Given the description of an element on the screen output the (x, y) to click on. 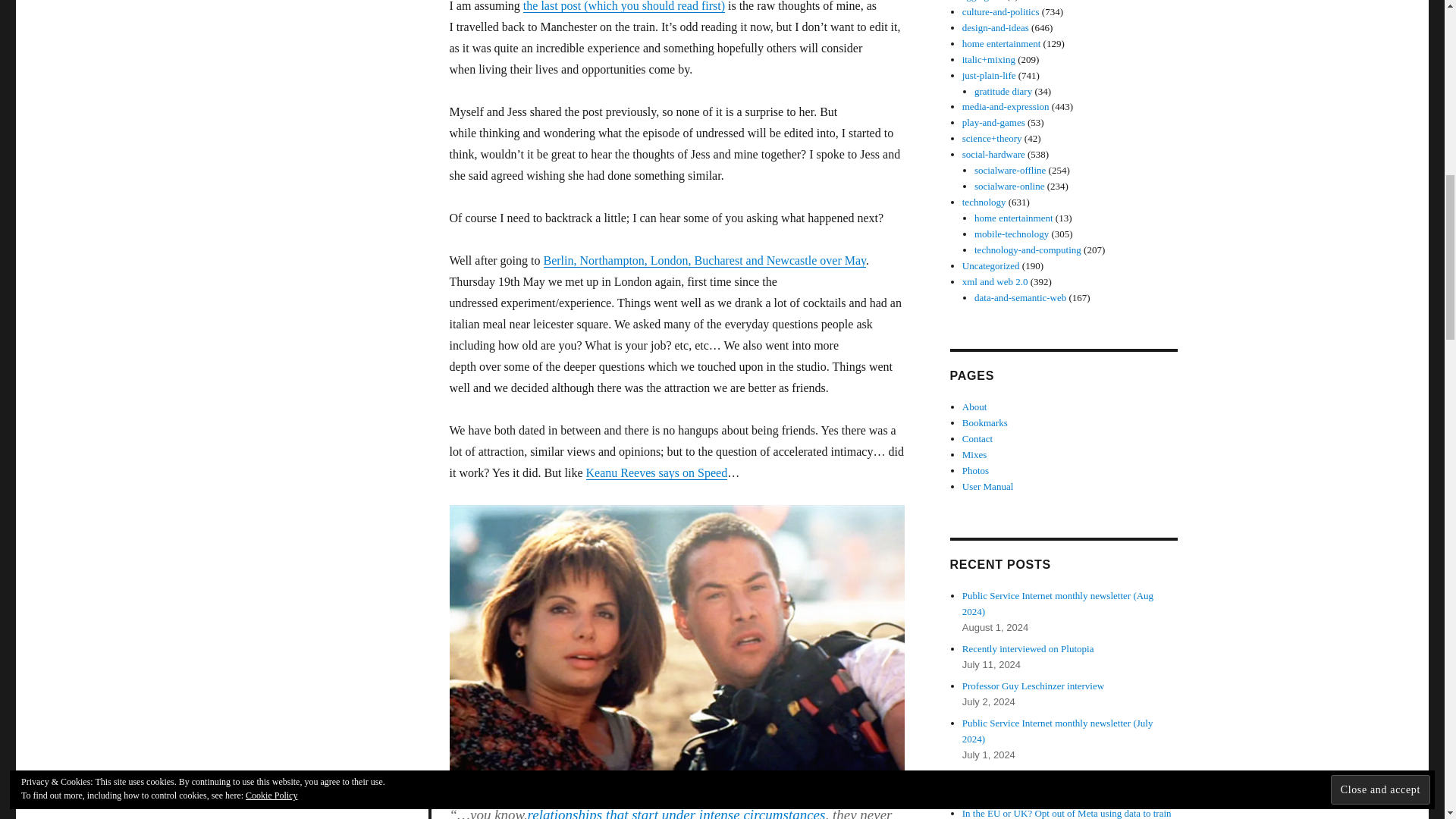
relationships that start under intense circumstances (676, 812)
Keanu Reeves says on Speed (657, 472)
